Given the description of an element on the screen output the (x, y) to click on. 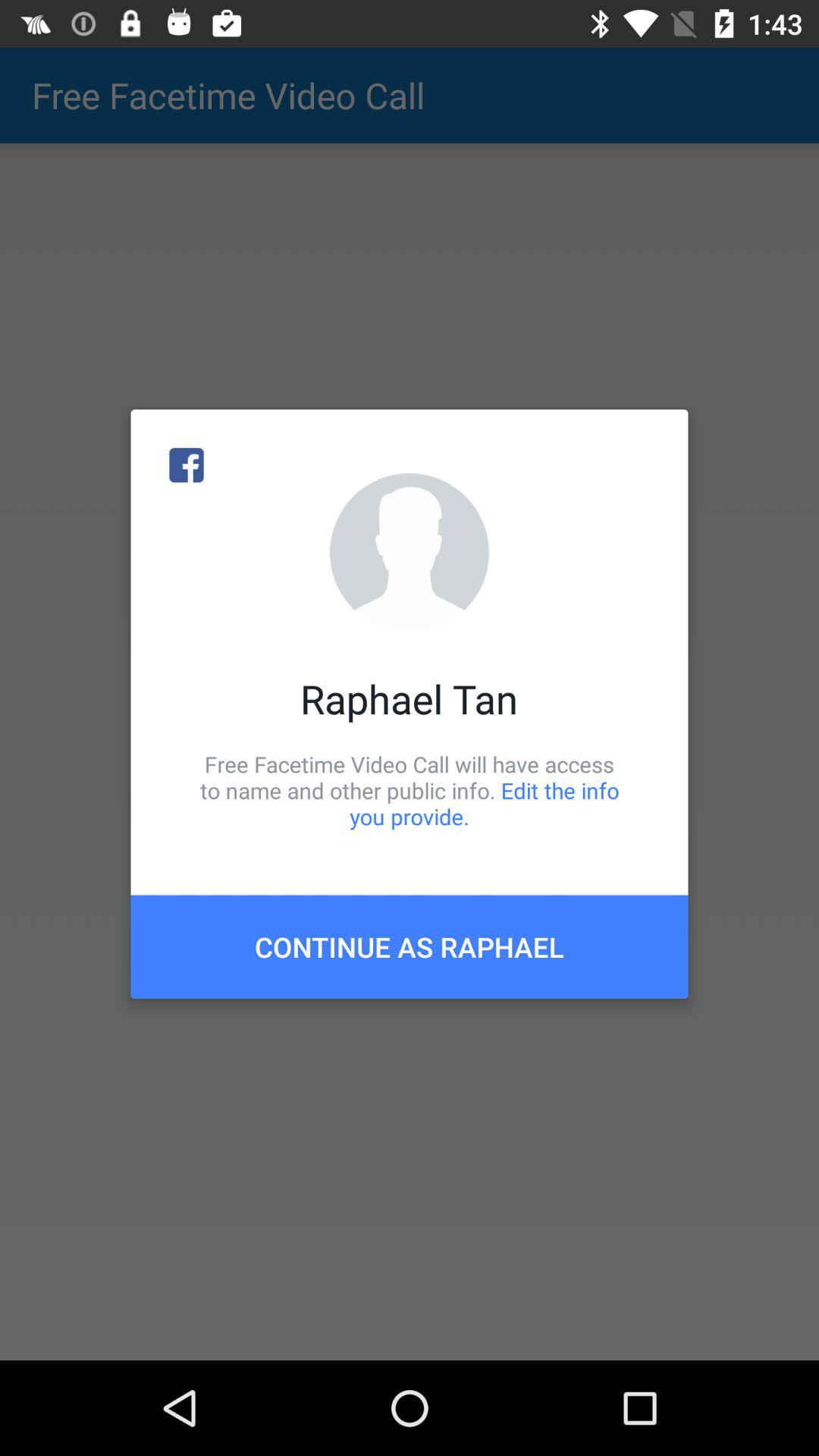
flip until free facetime video item (409, 790)
